Given the description of an element on the screen output the (x, y) to click on. 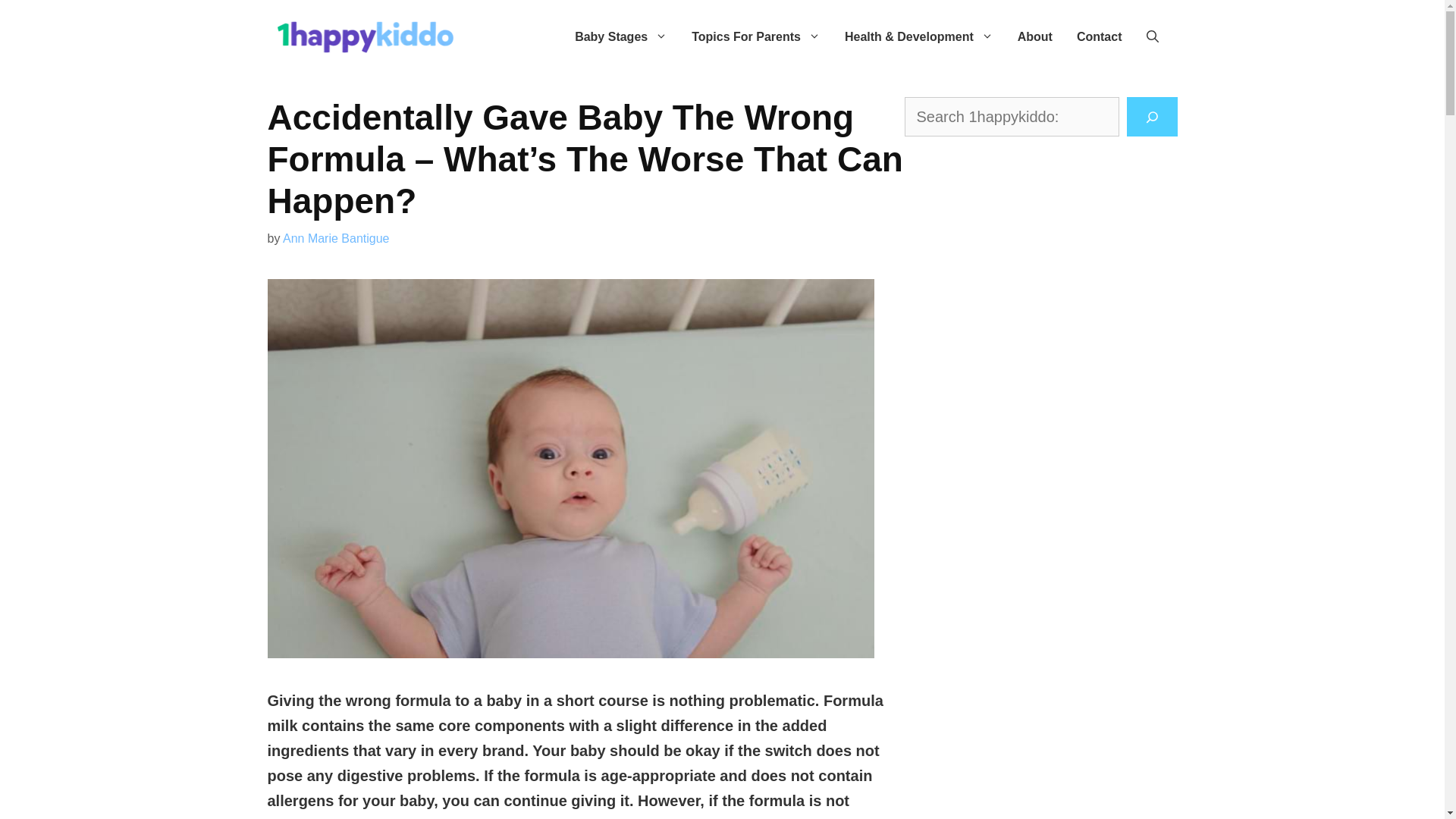
Baby Stages (620, 36)
View all posts by Ann Marie Bantigue (336, 237)
Topics For Parents (755, 36)
